Given the description of an element on the screen output the (x, y) to click on. 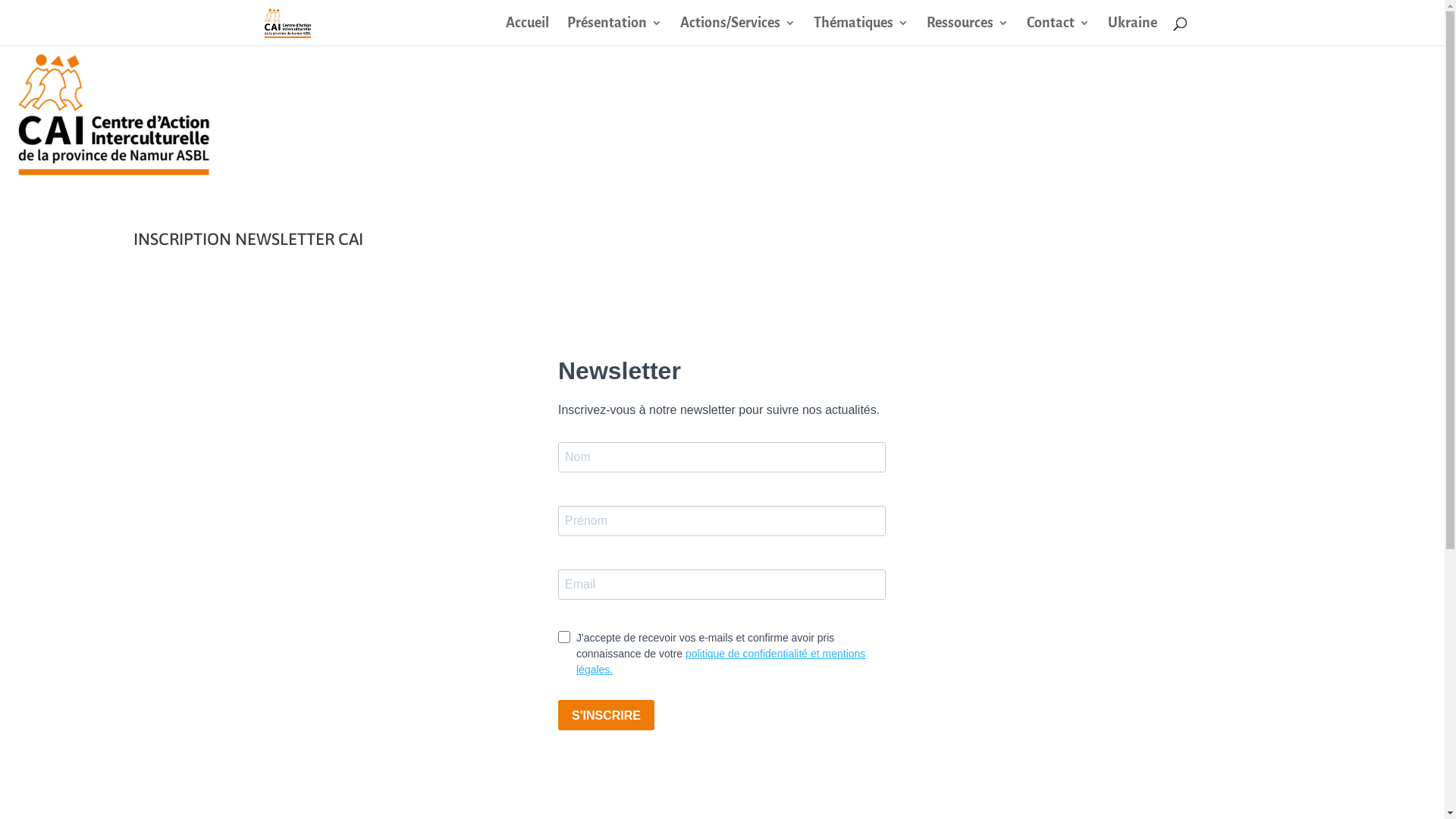
Ressources Element type: text (967, 31)
Contact Element type: text (1057, 31)
Accueil Element type: text (526, 31)
Ukraine Element type: text (1131, 31)
Actions/Services Element type: text (736, 31)
